Given the description of an element on the screen output the (x, y) to click on. 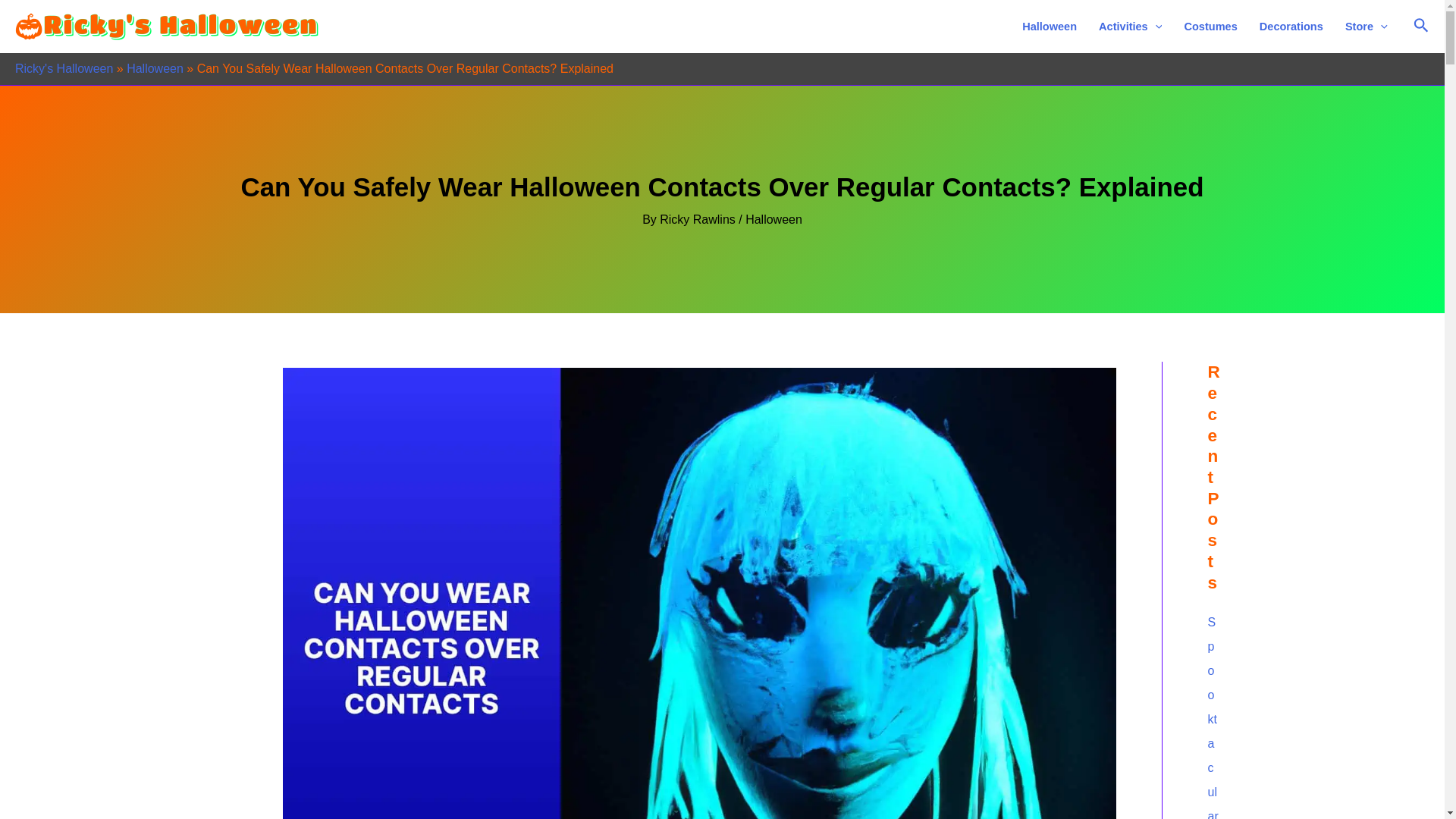
Store (1365, 26)
Ricky's Halloween (63, 68)
Halloween (154, 68)
Decorations (1290, 26)
Costumes (1210, 26)
Activities (1130, 26)
Search (1421, 26)
View all posts by Ricky Rawlins (698, 219)
Halloween (1049, 26)
